Given the description of an element on the screen output the (x, y) to click on. 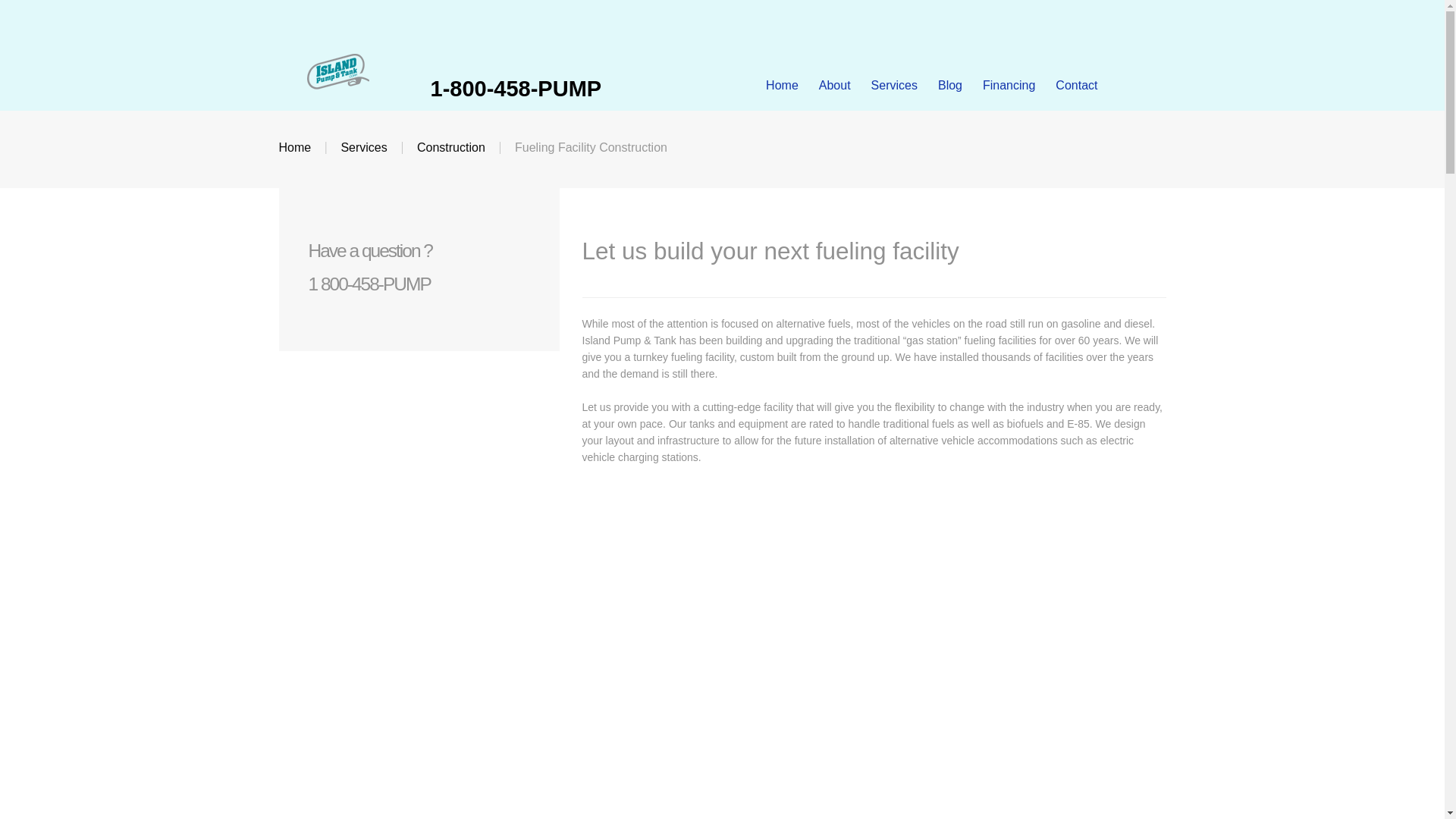
Permanent Emergency Generator (398, 516)
Services (893, 85)
Home (295, 146)
Financing (1008, 85)
1-800-458-PUMP (516, 88)
Learn More (364, 750)
Blog (949, 85)
About (834, 85)
Home (781, 85)
Contact (1076, 85)
